Given the description of an element on the screen output the (x, y) to click on. 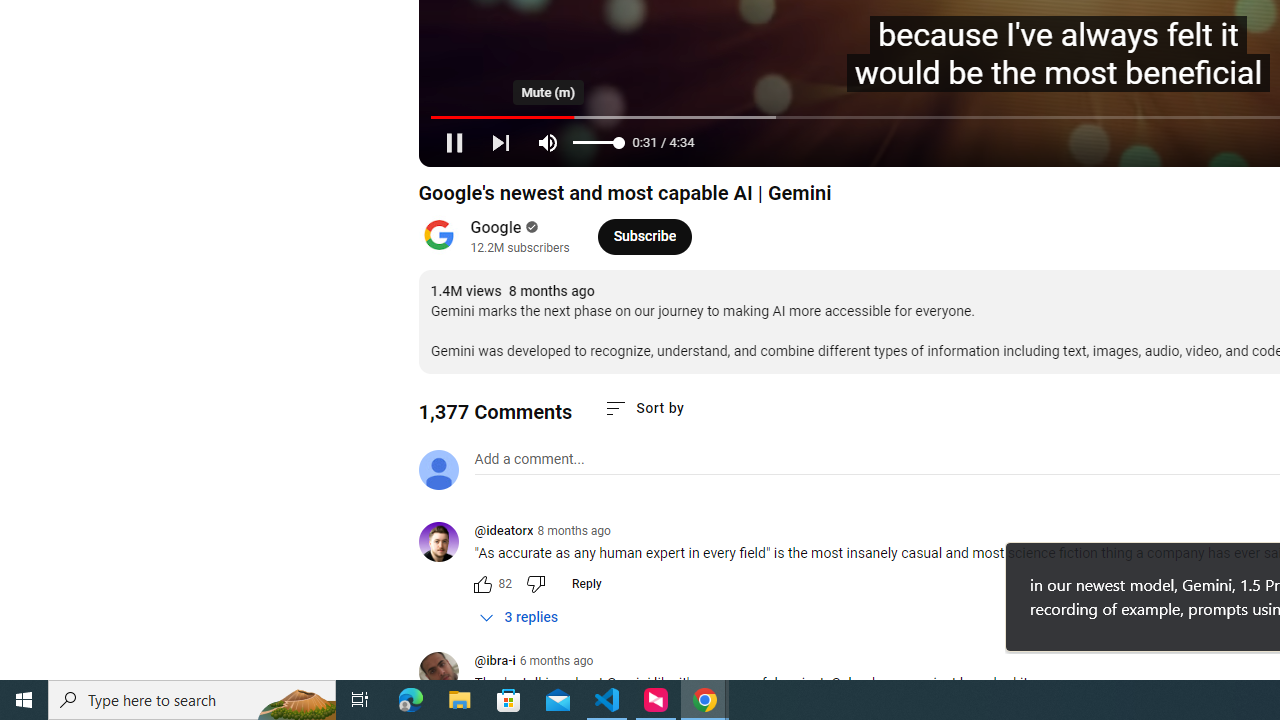
6 months ago (555, 661)
8 months ago (573, 531)
Dislike this comment (534, 583)
AutomationID: simplebox-placeholder (528, 459)
Next (SHIFT+n) (500, 142)
@ideatorx (446, 543)
Subscribe to Google. (644, 236)
